Given the description of an element on the screen output the (x, y) to click on. 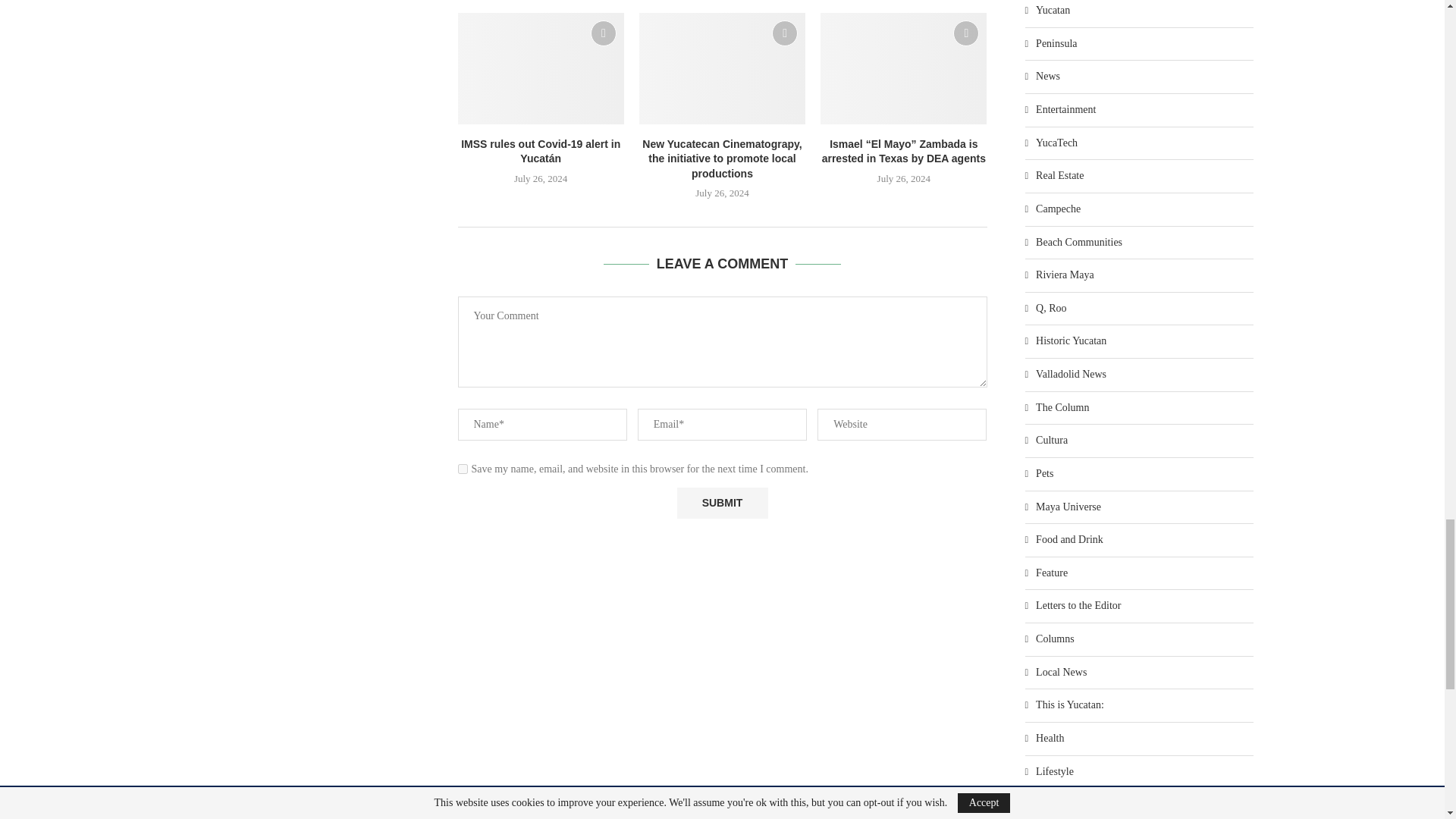
yes (462, 469)
Submit (722, 502)
